Given the description of an element on the screen output the (x, y) to click on. 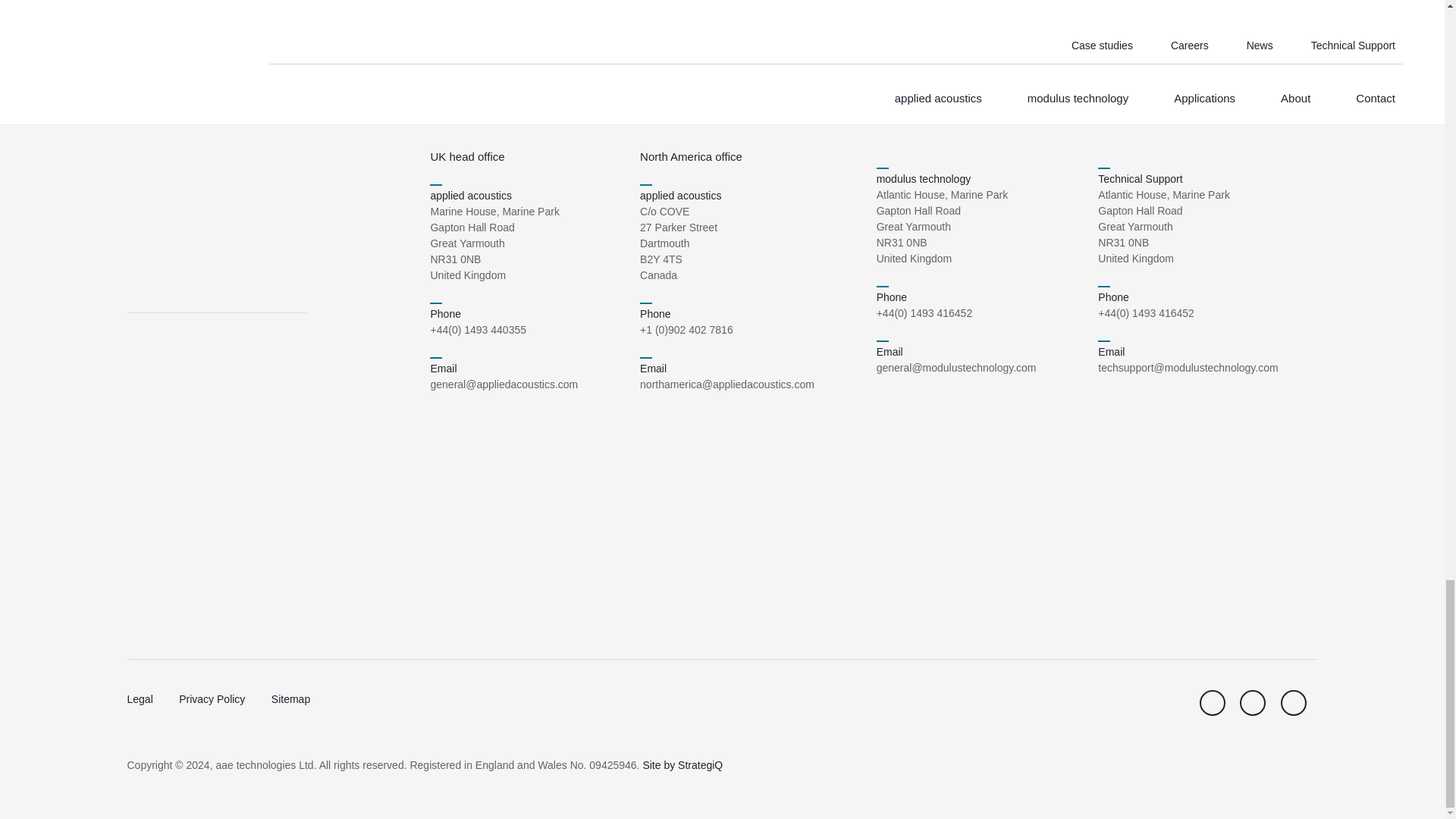
twitter (1212, 702)
Subscribe (788, 21)
youtube (1292, 702)
linkedin (1252, 702)
